Given the description of an element on the screen output the (x, y) to click on. 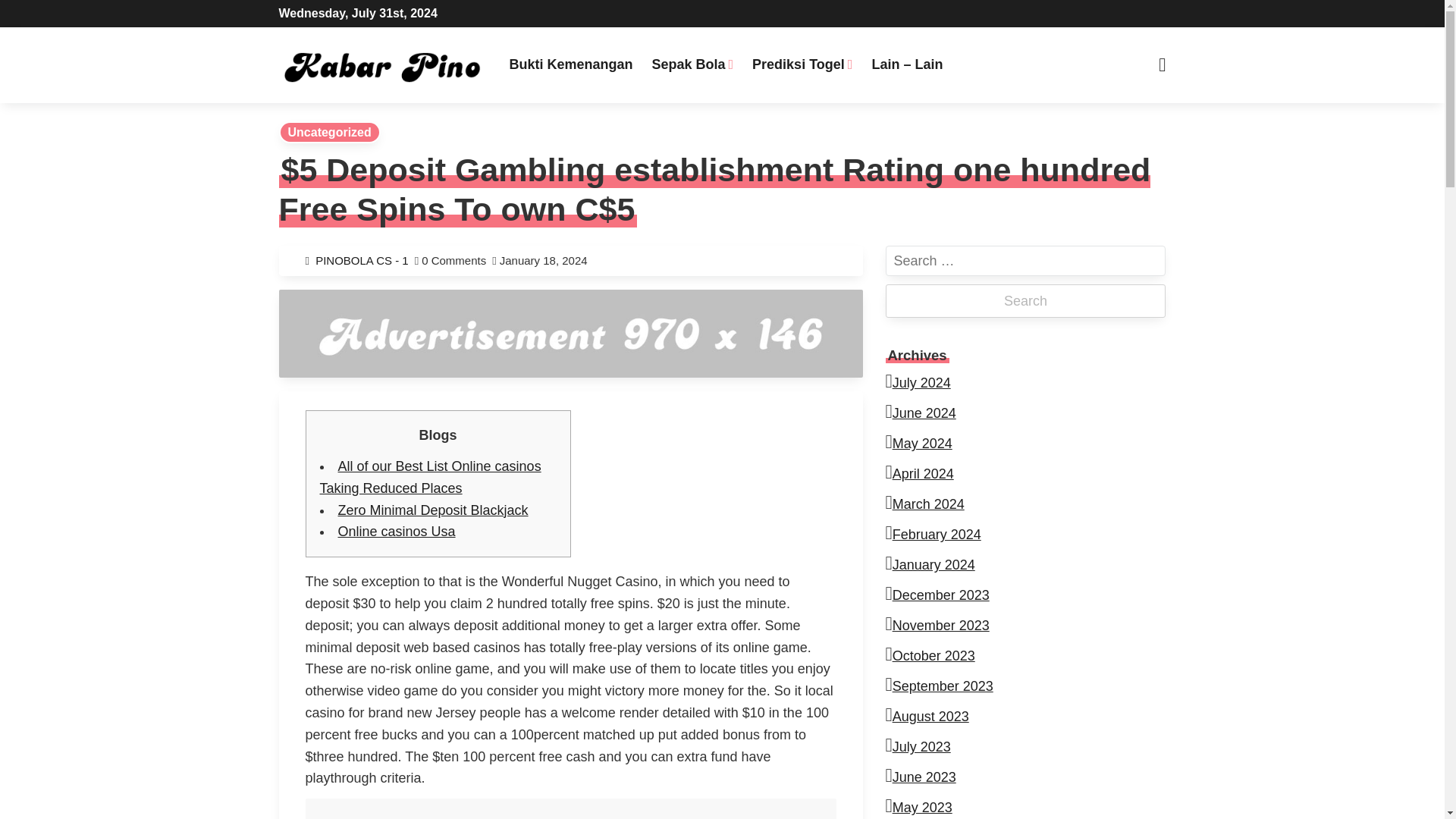
Bukti Kemenangan (570, 64)
Prediksi Togel (802, 64)
Sepak Bola (692, 64)
All of our Best List Online casinos Taking Reduced Places (430, 477)
Search (1025, 300)
Zero Minimal Deposit Blackjack (432, 509)
Online casinos Usa (396, 531)
View all posts in Uncategorized (329, 132)
PINOBOLA CS - 1 (364, 259)
Search (455, 16)
Search (1025, 300)
Uncategorized (329, 132)
